Given the description of an element on the screen output the (x, y) to click on. 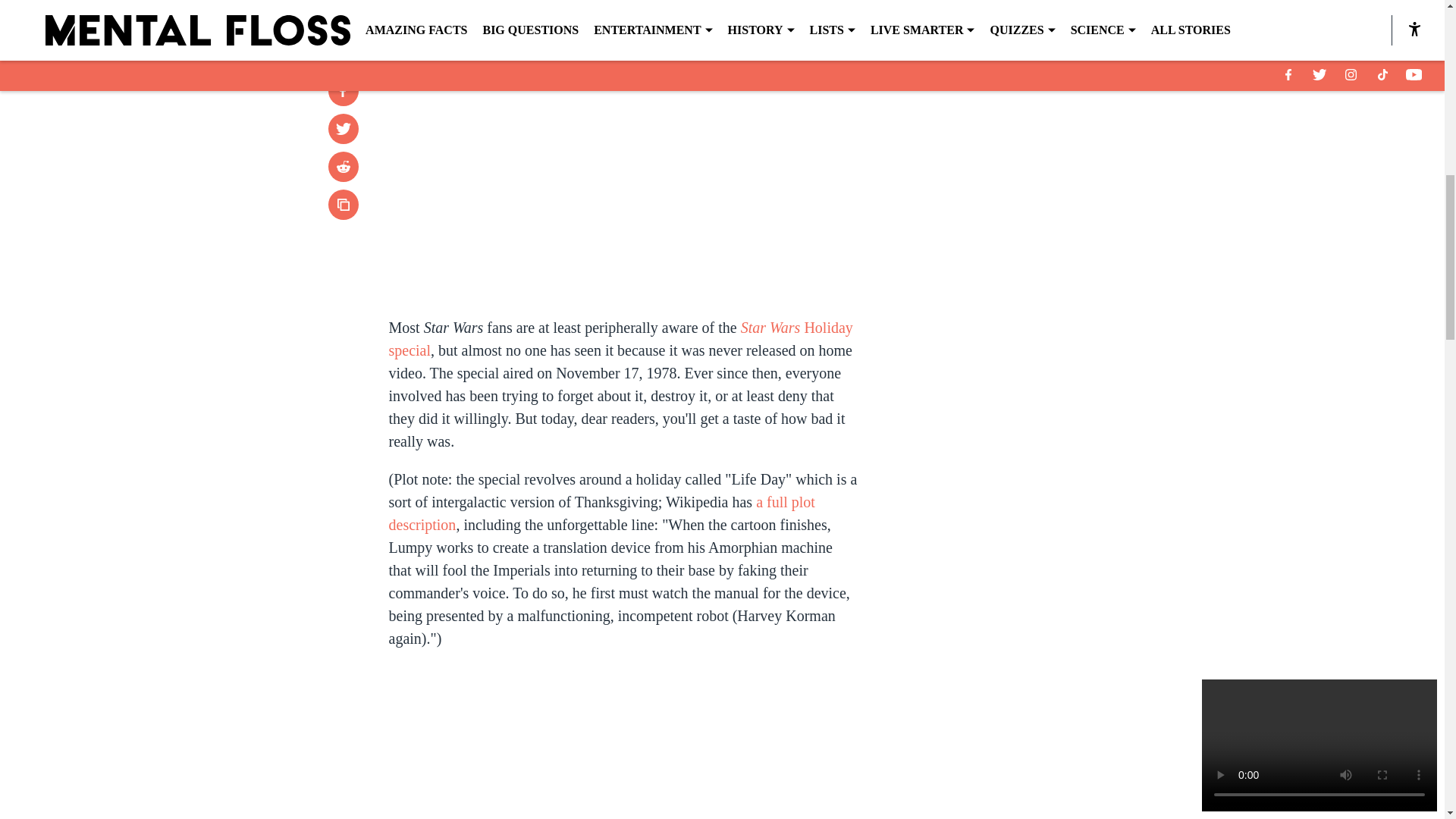
3rd party ad content (1047, 131)
3rd party ad content (1047, 350)
